Given the description of an element on the screen output the (x, y) to click on. 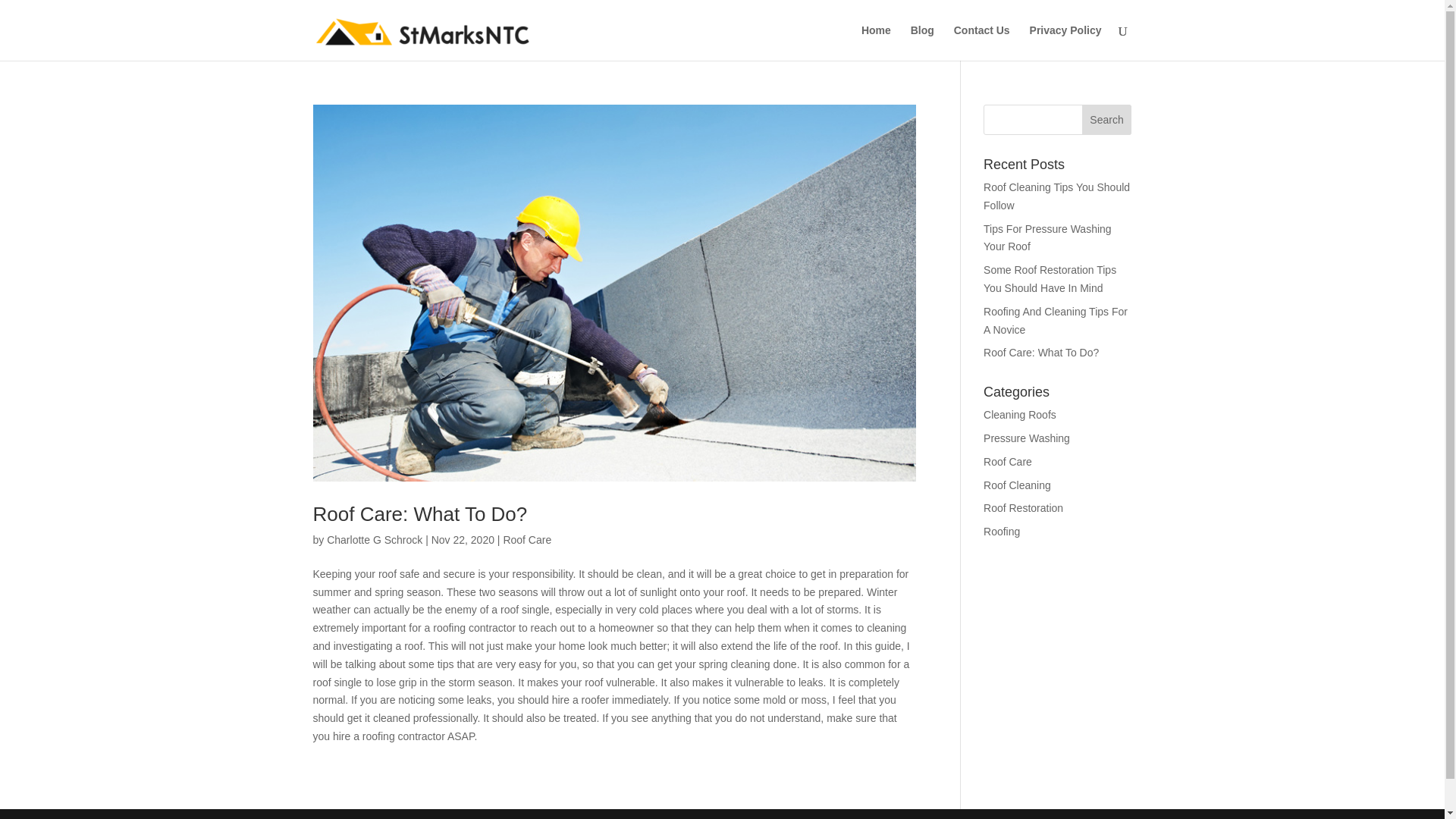
Roofing And Cleaning Tips For A Novice (1055, 320)
Some Roof Restoration Tips You Should Have In Mind (1050, 278)
Roof Care (526, 539)
Contact Us (981, 42)
Roof Care: What To Do? (420, 513)
Cleaning Roofs (1020, 414)
Roof Restoration (1023, 508)
Search (1106, 119)
Roof Care: What To Do? (1041, 352)
Roofing (1002, 531)
